Given the description of an element on the screen output the (x, y) to click on. 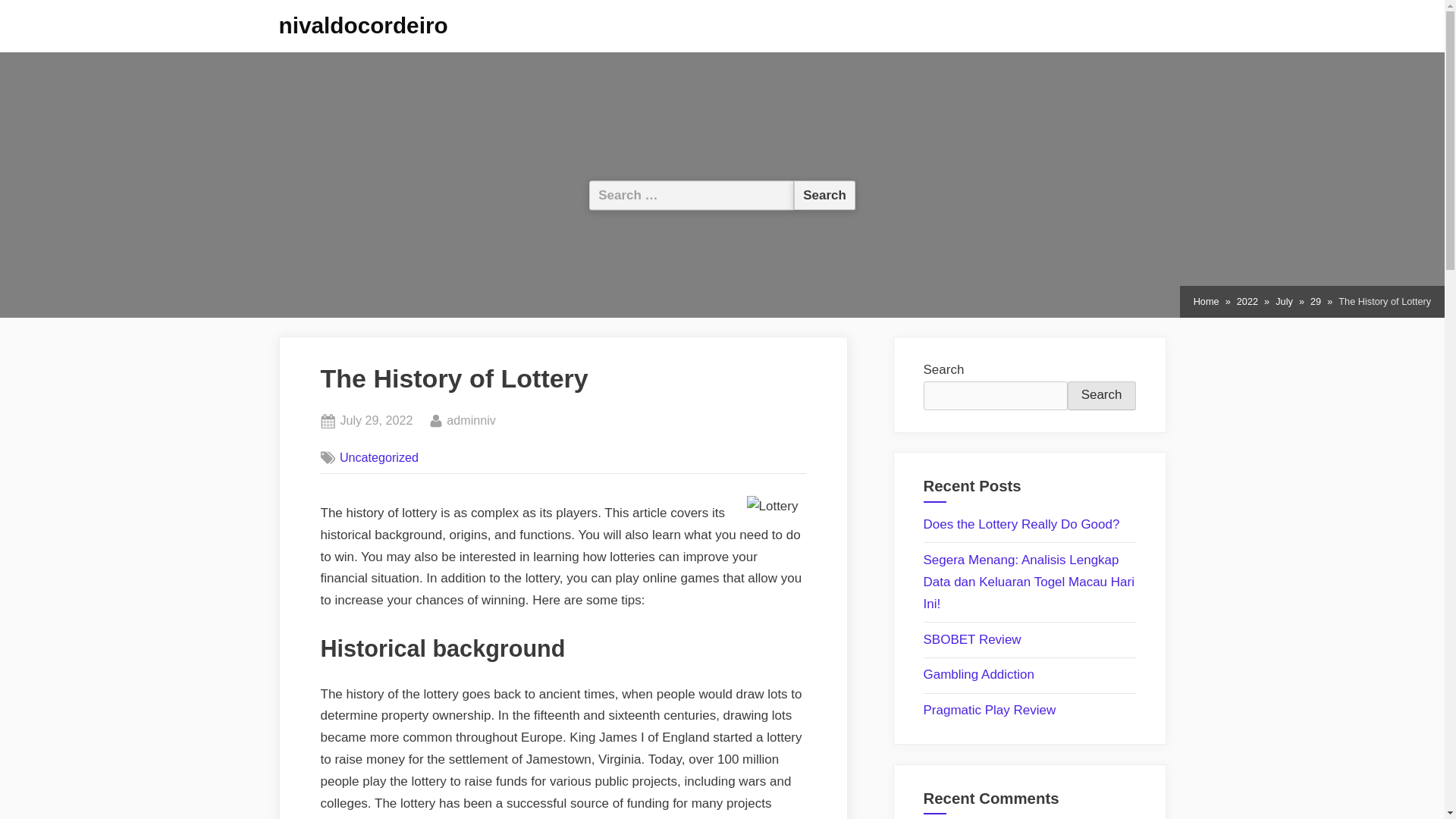
Does the Lottery Really Do Good? (1021, 523)
July (1283, 301)
nivaldocordeiro (363, 25)
SBOBET Review (972, 639)
Pragmatic Play Review (990, 709)
2022 (1246, 301)
Home (1206, 301)
Search (824, 194)
Gambling Addiction (978, 674)
